Given the description of an element on the screen output the (x, y) to click on. 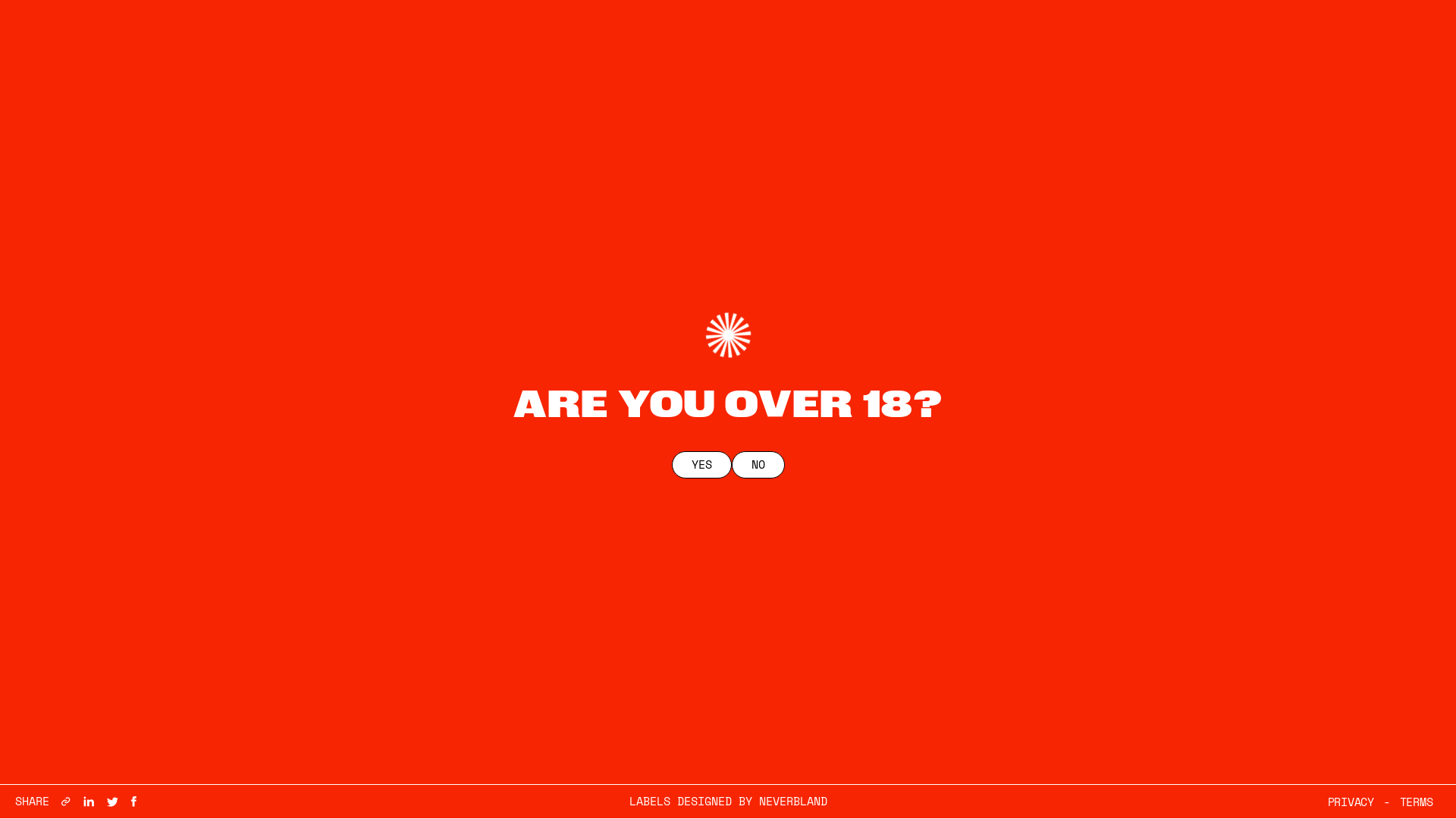
NO Element type: text (757, 464)
YES Element type: text (701, 464)
PRIVACY Element type: text (1350, 801)
TERMS Element type: text (1416, 801)
LABELS DESIGNED BY NEVERBLAND Element type: text (728, 801)
